Given the description of an element on the screen output the (x, y) to click on. 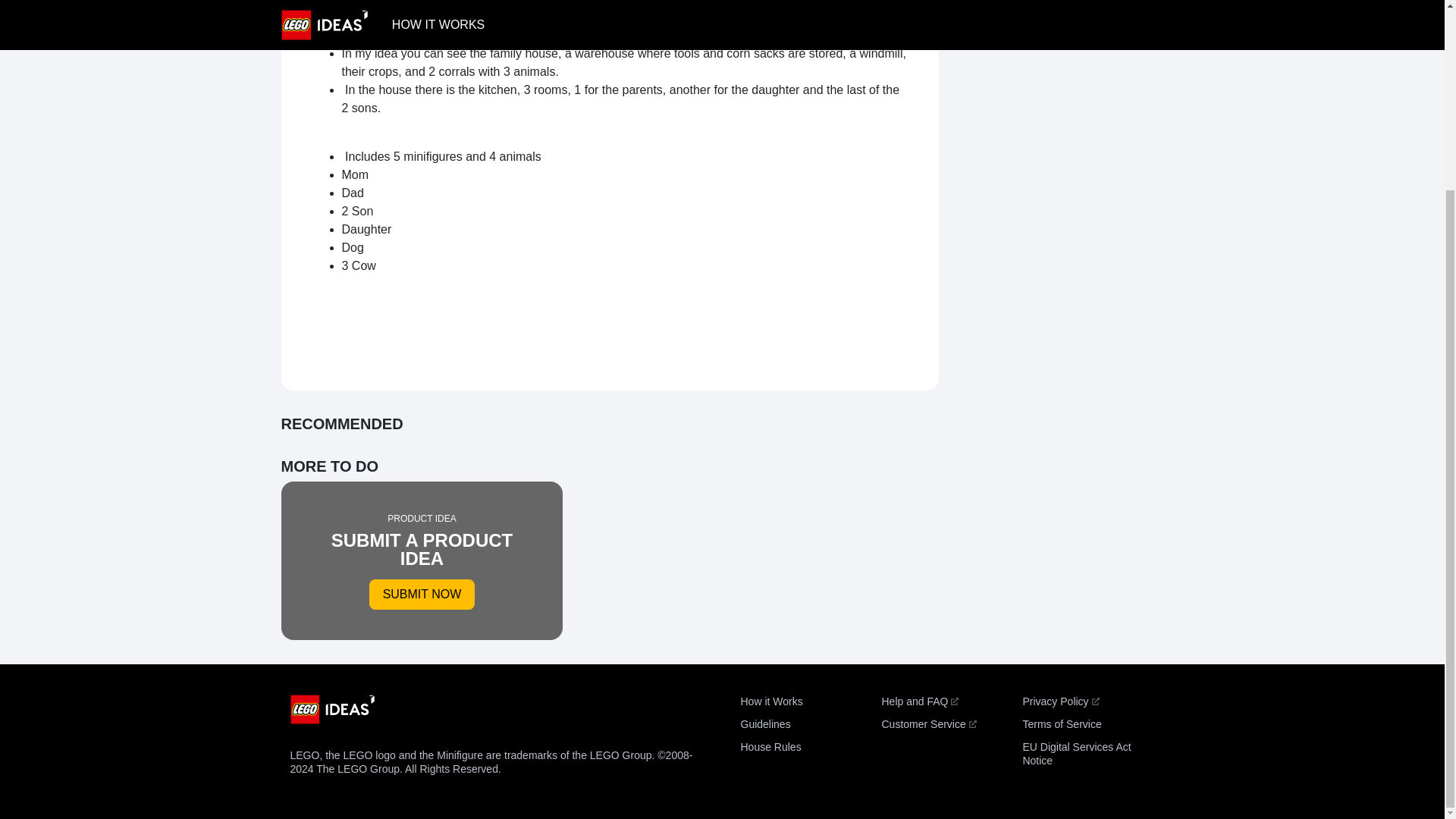
Guidelines (764, 724)
How it Works (770, 701)
Terms of Service (1061, 724)
Help and FAQ (421, 560)
House Rules (919, 701)
Customer Service (769, 746)
Privacy Policy (927, 724)
EU Digital Services Act Notice (1060, 701)
